Given the description of an element on the screen output the (x, y) to click on. 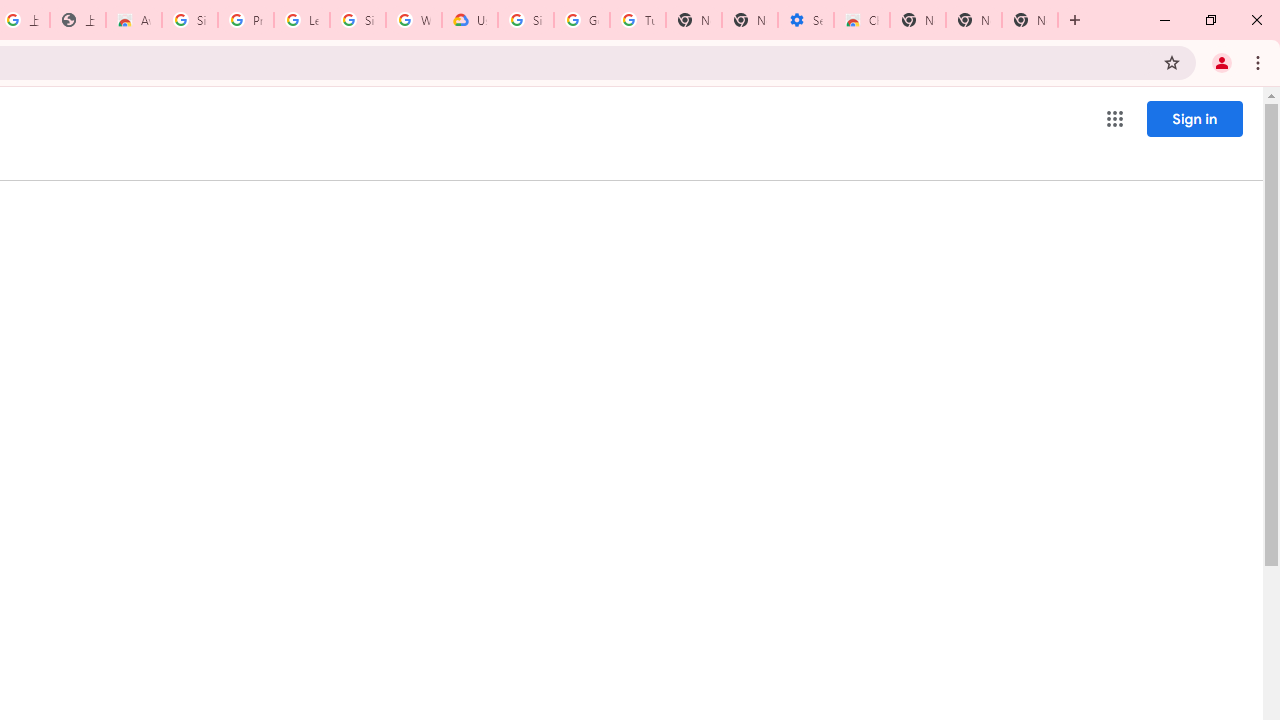
New Tab (917, 20)
New Tab (1030, 20)
Turn cookies on or off - Computer - Google Account Help (637, 20)
Who are Google's partners? - Privacy and conditions - Google (413, 20)
Sign in - Google Accounts (525, 20)
